Given the description of an element on the screen output the (x, y) to click on. 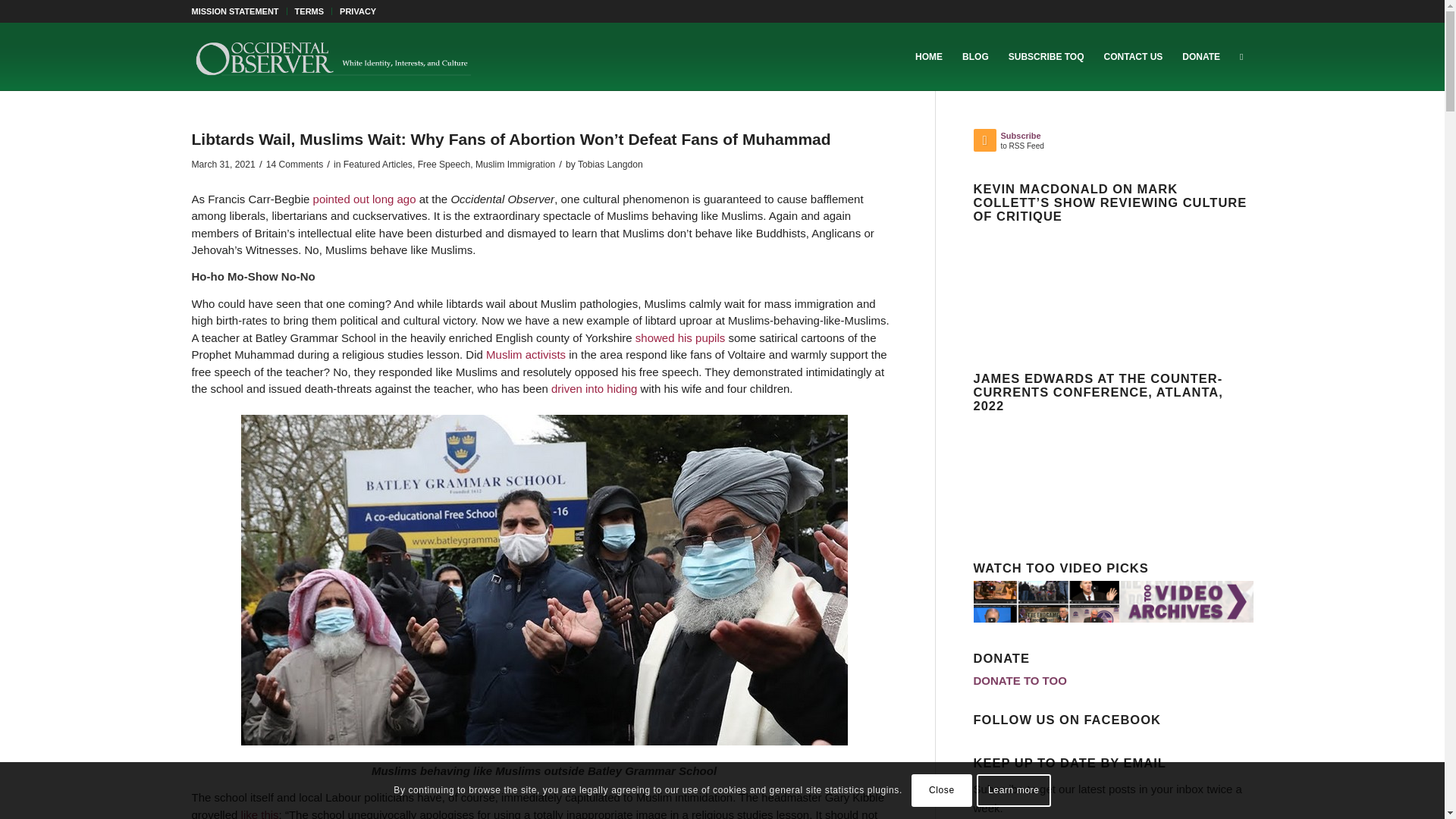
HOME (928, 56)
Featured Articles (377, 163)
DONATE (1201, 56)
driven into hiding (594, 388)
Free Speech (443, 163)
Contact Us (1133, 56)
showed his pupils (679, 337)
SUBSCRIBE TOQ (1046, 56)
Tobias Langdon (610, 163)
TERMS (309, 11)
14 Comments (294, 163)
BLOG (975, 56)
Muslim activists (526, 354)
MISSION STATEMENT (234, 11)
pointed out long ago (364, 198)
